Given the description of an element on the screen output the (x, y) to click on. 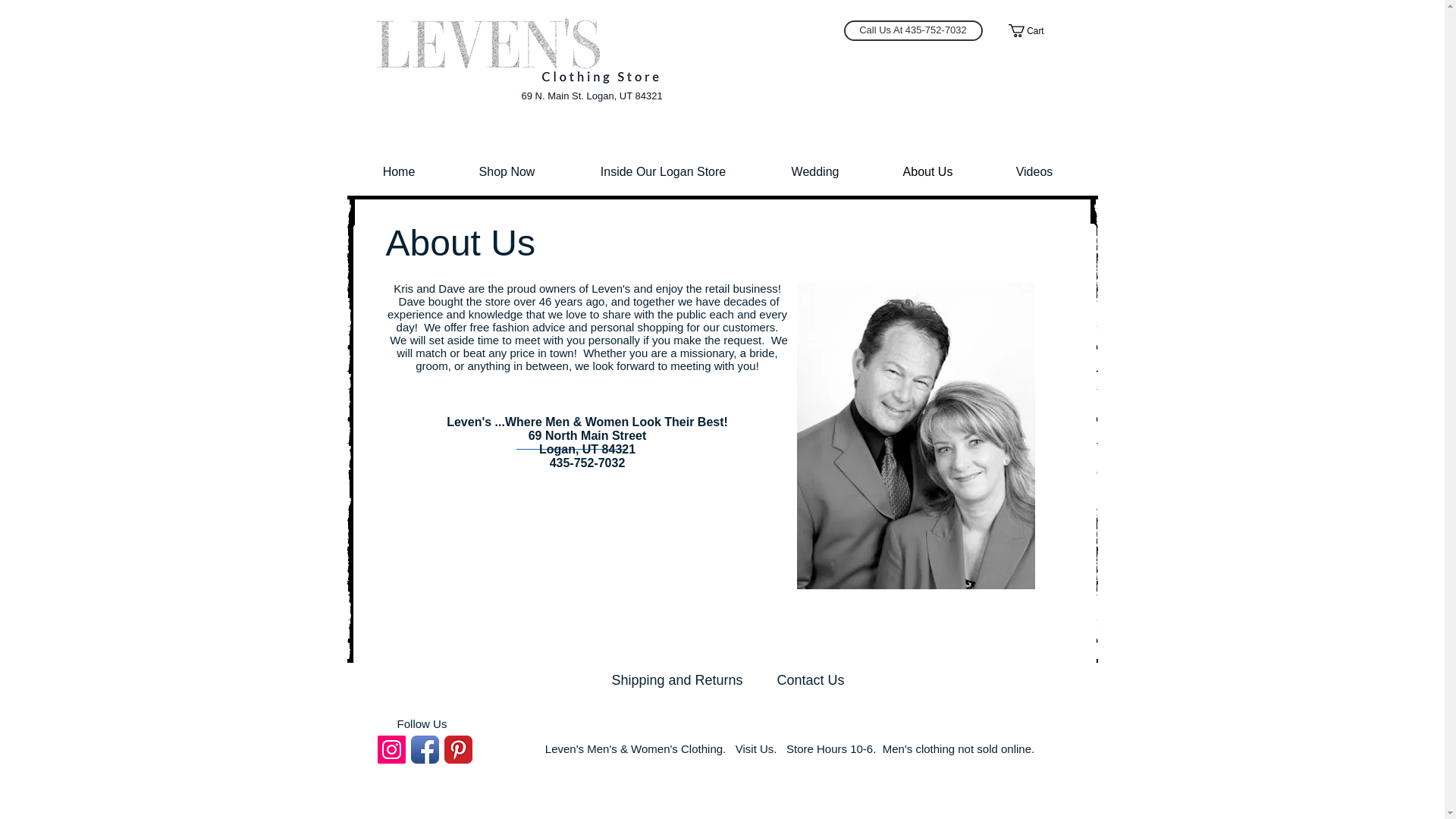
Wedding (815, 171)
Shop Now (506, 171)
Home (398, 171)
Videos (1033, 171)
Leven's Clothing Store (511, 49)
Inside Our Logan Store (663, 171)
About Us (927, 171)
Contact Us (810, 679)
     Shipping and Returns (667, 679)
Cart (1033, 30)
Cart (1033, 30)
Call Us At 435-752-7032 (912, 30)
